Given the description of an element on the screen output the (x, y) to click on. 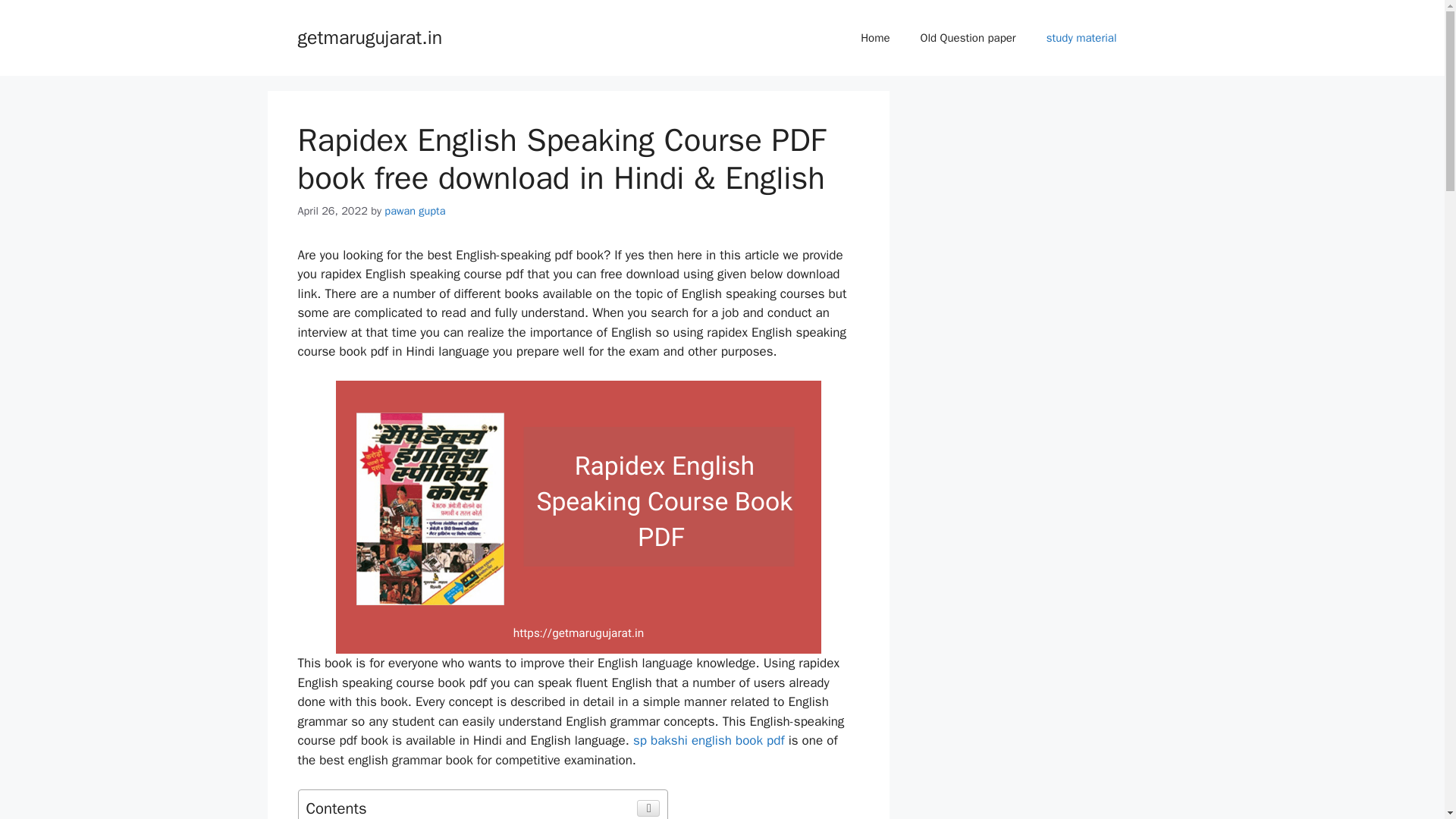
Home (874, 37)
View all posts by pawan gupta (414, 210)
Old Question paper (967, 37)
study material (1081, 37)
sp bakshi english book pdf (708, 740)
getmarugujarat.in (369, 37)
pawan gupta (414, 210)
